Given the description of an element on the screen output the (x, y) to click on. 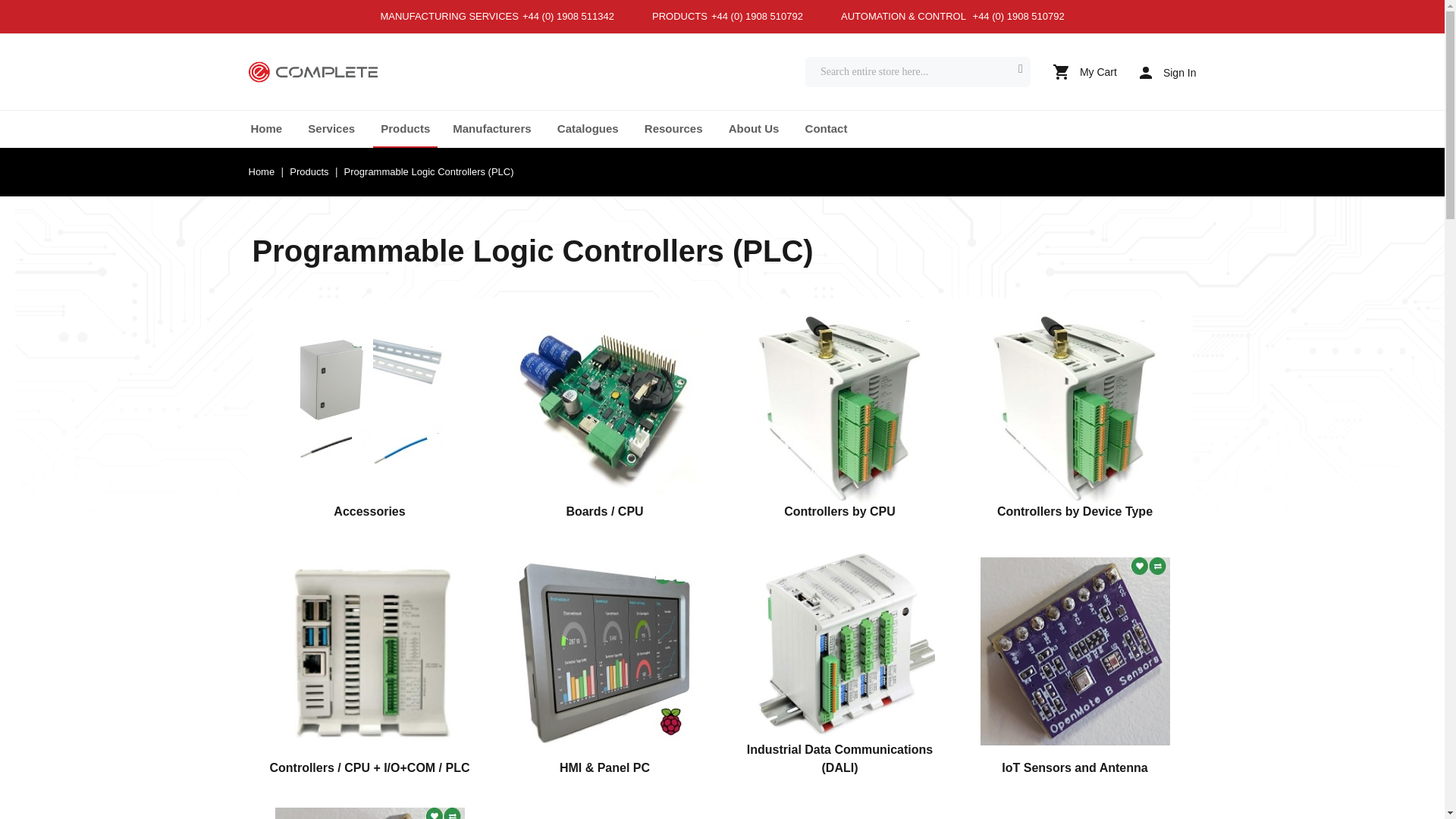
My Cart (1084, 72)
Services (330, 128)
Industrial Connectors and Connectivity Solutions (312, 72)
Products (405, 128)
Go to Home Page (263, 171)
Manufacturers (491, 128)
Sign In (1168, 72)
Home (266, 128)
